Given the description of an element on the screen output the (x, y) to click on. 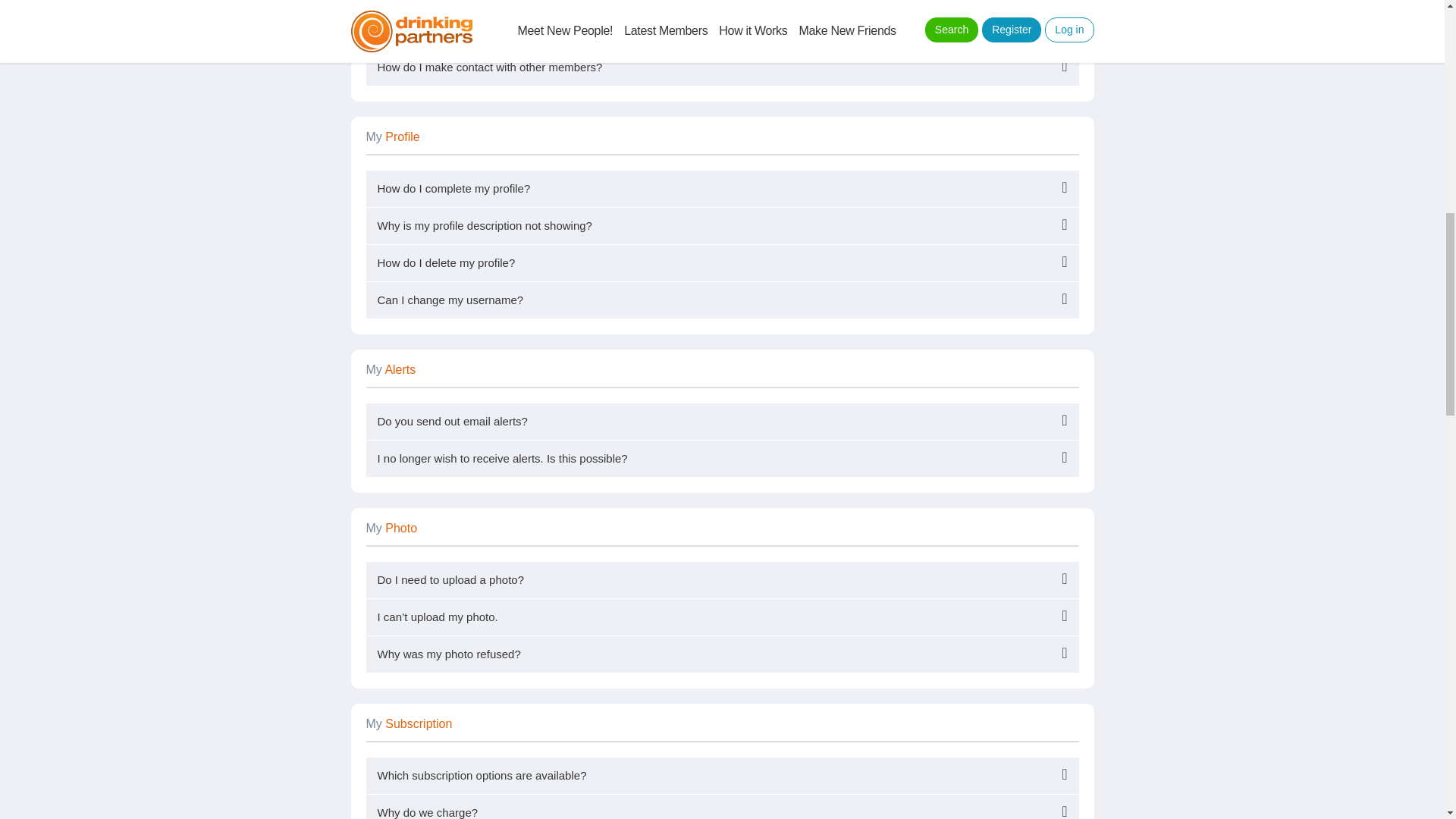
How do I make contact with other members? (721, 67)
Can I change my username? (721, 299)
Why do we charge? (721, 806)
I no longer wish to receive alerts. Is this possible? (721, 458)
Which subscription options are available? (721, 775)
Why is my profile description not showing? (721, 226)
How do I delete my profile? (721, 262)
How do I complete my profile? (721, 188)
Why was my photo refused? (721, 654)
Do I need to upload a photo? (721, 579)
